Given the description of an element on the screen output the (x, y) to click on. 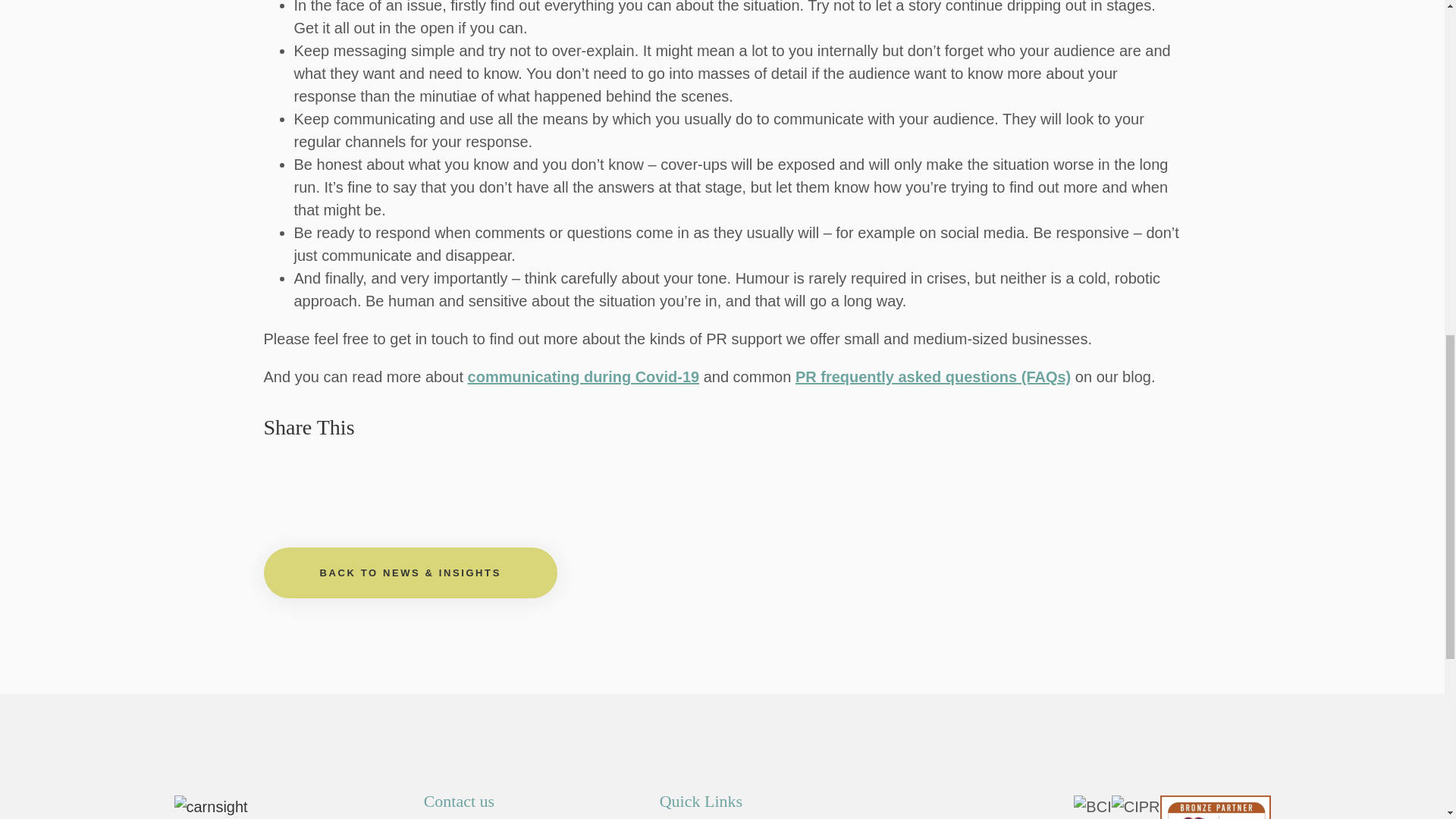
communicating during Covid-19 (583, 376)
